Given the description of an element on the screen output the (x, y) to click on. 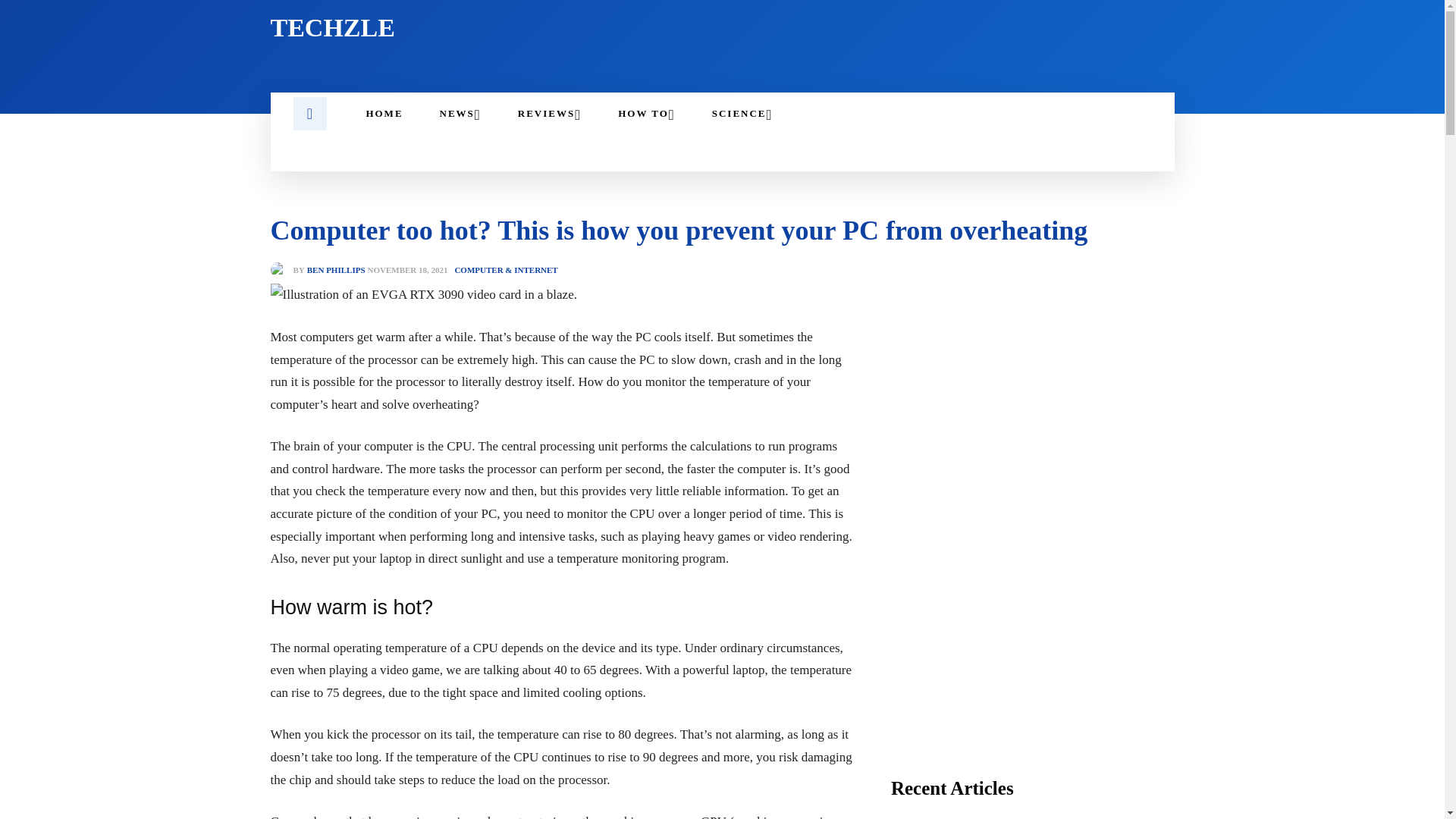
Ben Phillips (280, 269)
